Given the description of an element on the screen output the (x, y) to click on. 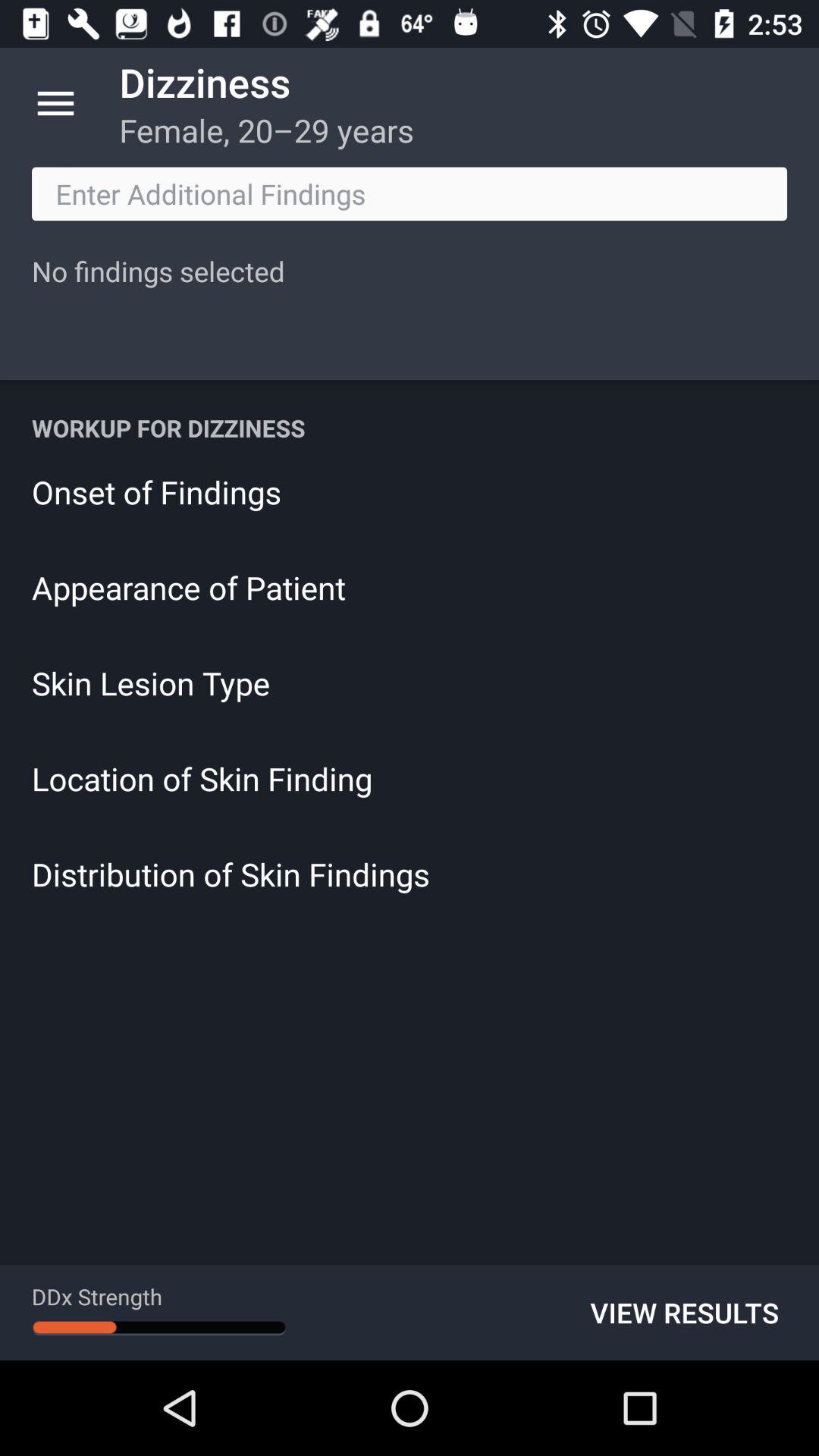
turn on app next to the dizziness (55, 103)
